Given the description of an element on the screen output the (x, y) to click on. 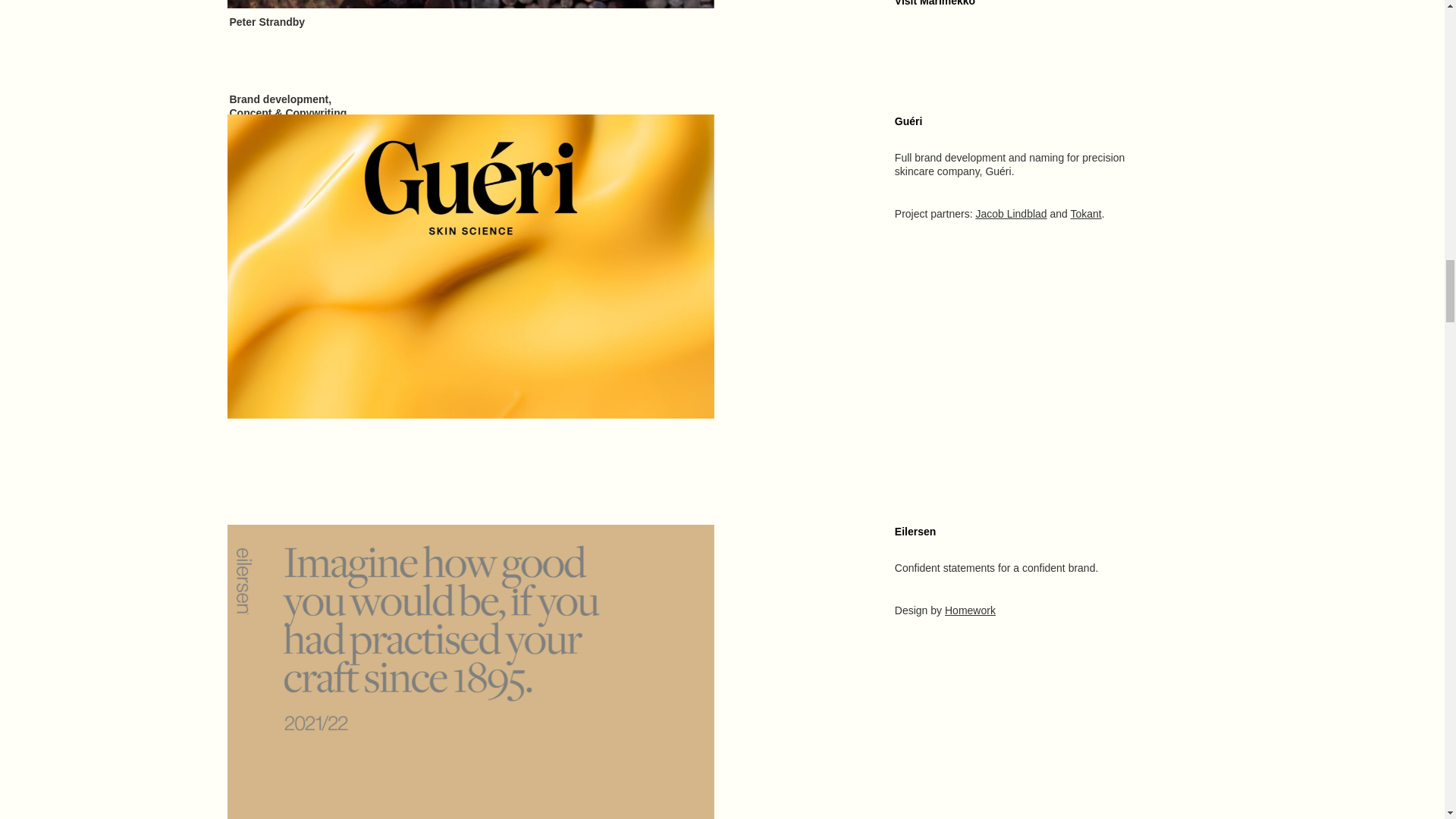
Homework (969, 610)
Visit Marimekko (935, 3)
Jacob Lindblad (1010, 214)
Tokant (1086, 214)
